Given the description of an element on the screen output the (x, y) to click on. 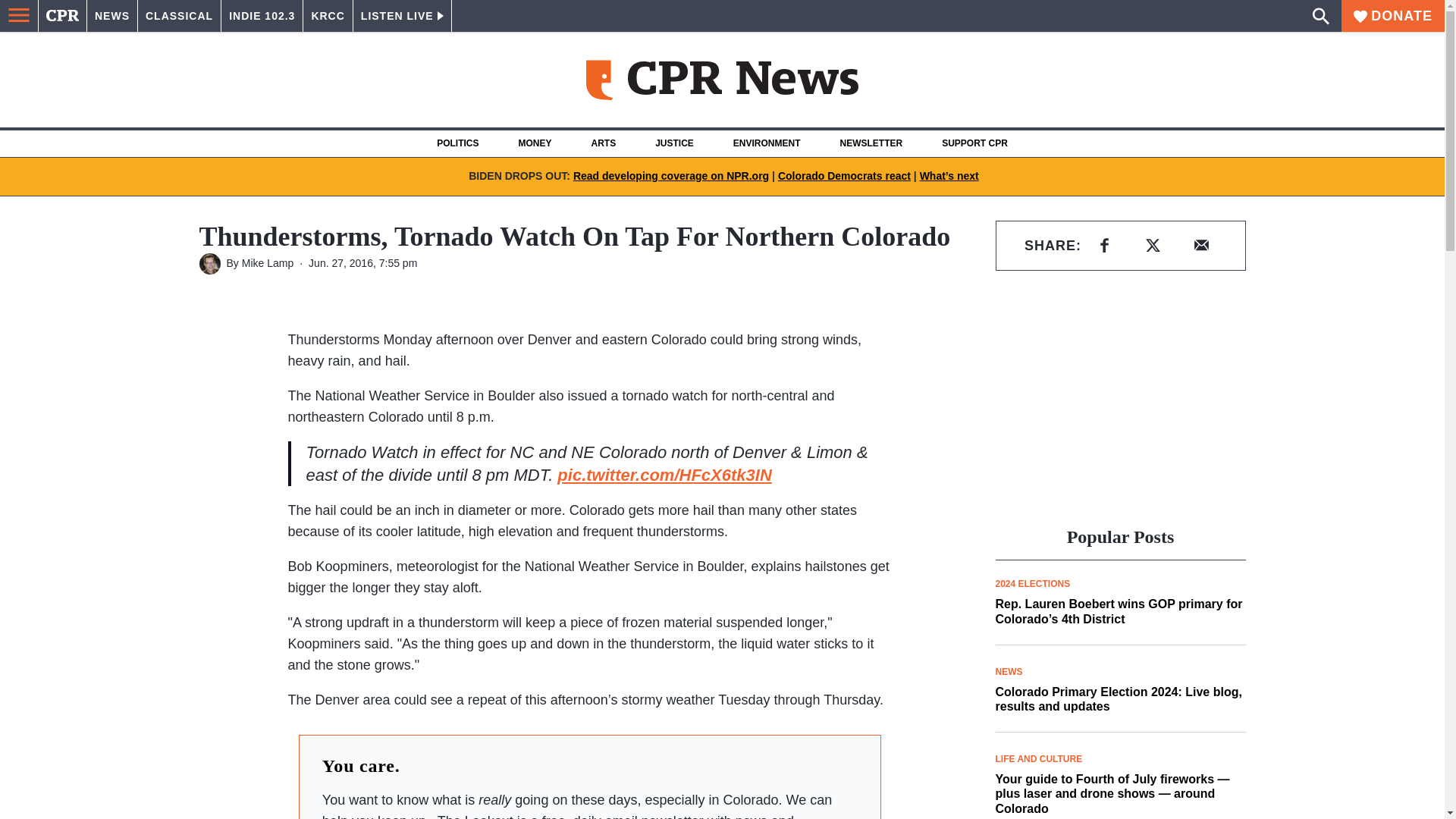
NEWS (111, 15)
LISTEN LIVE (402, 15)
INDIE 102.3 (261, 15)
CLASSICAL (179, 15)
KRCC (327, 15)
